Given the description of an element on the screen output the (x, y) to click on. 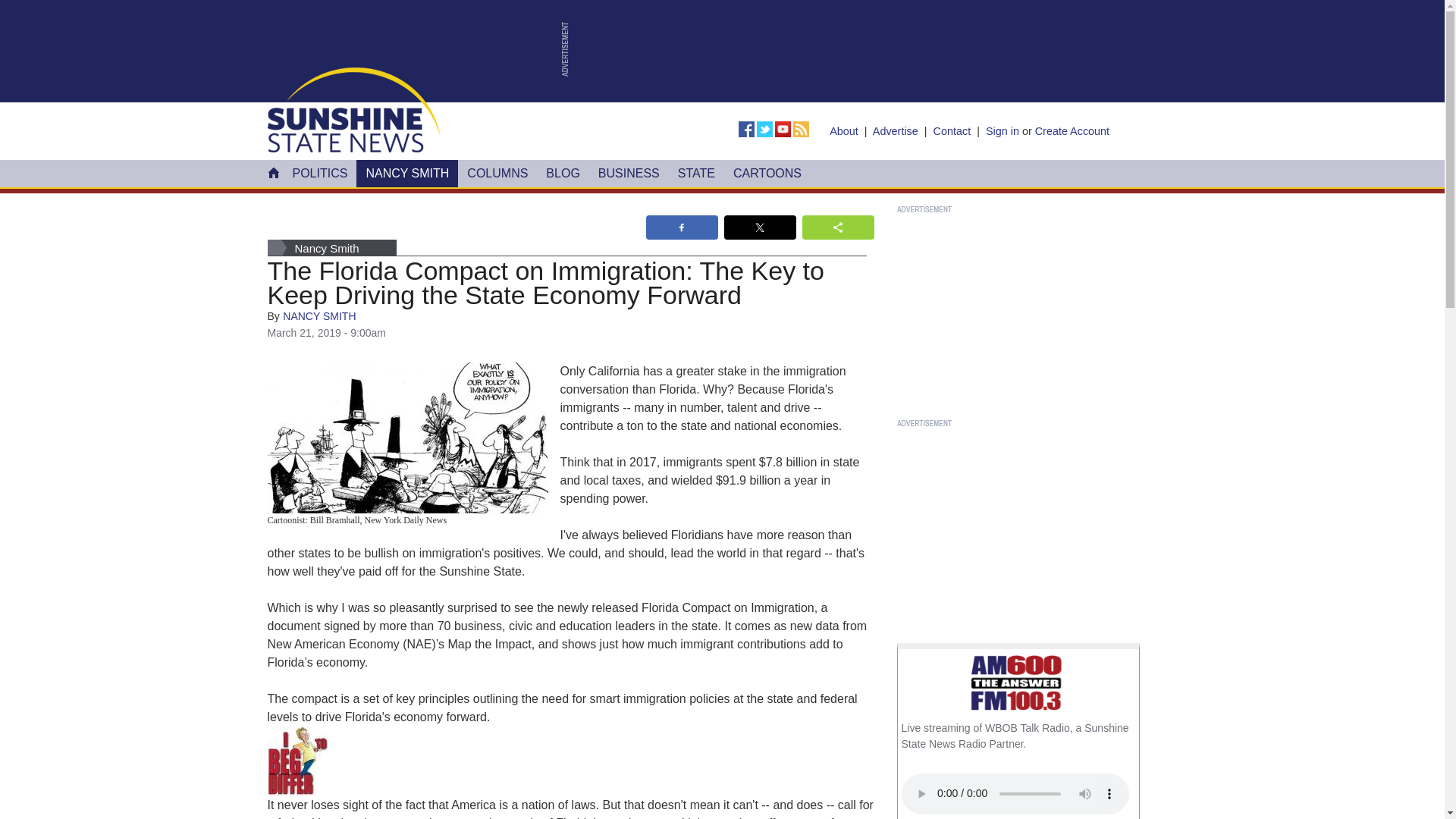
BLOG (562, 173)
NANCY SMITH (318, 316)
Advertise (895, 131)
Contact (952, 131)
Cartoonist: Bill Bramhall, New York Daily News (406, 437)
SSN on Twitter (765, 129)
POLITICS (319, 173)
CARTOONS (766, 173)
SSN on YouTube (783, 129)
About (844, 131)
COLUMNS (497, 173)
STATE (695, 173)
Home (352, 108)
NANCY SMITH (407, 173)
